Given the description of an element on the screen output the (x, y) to click on. 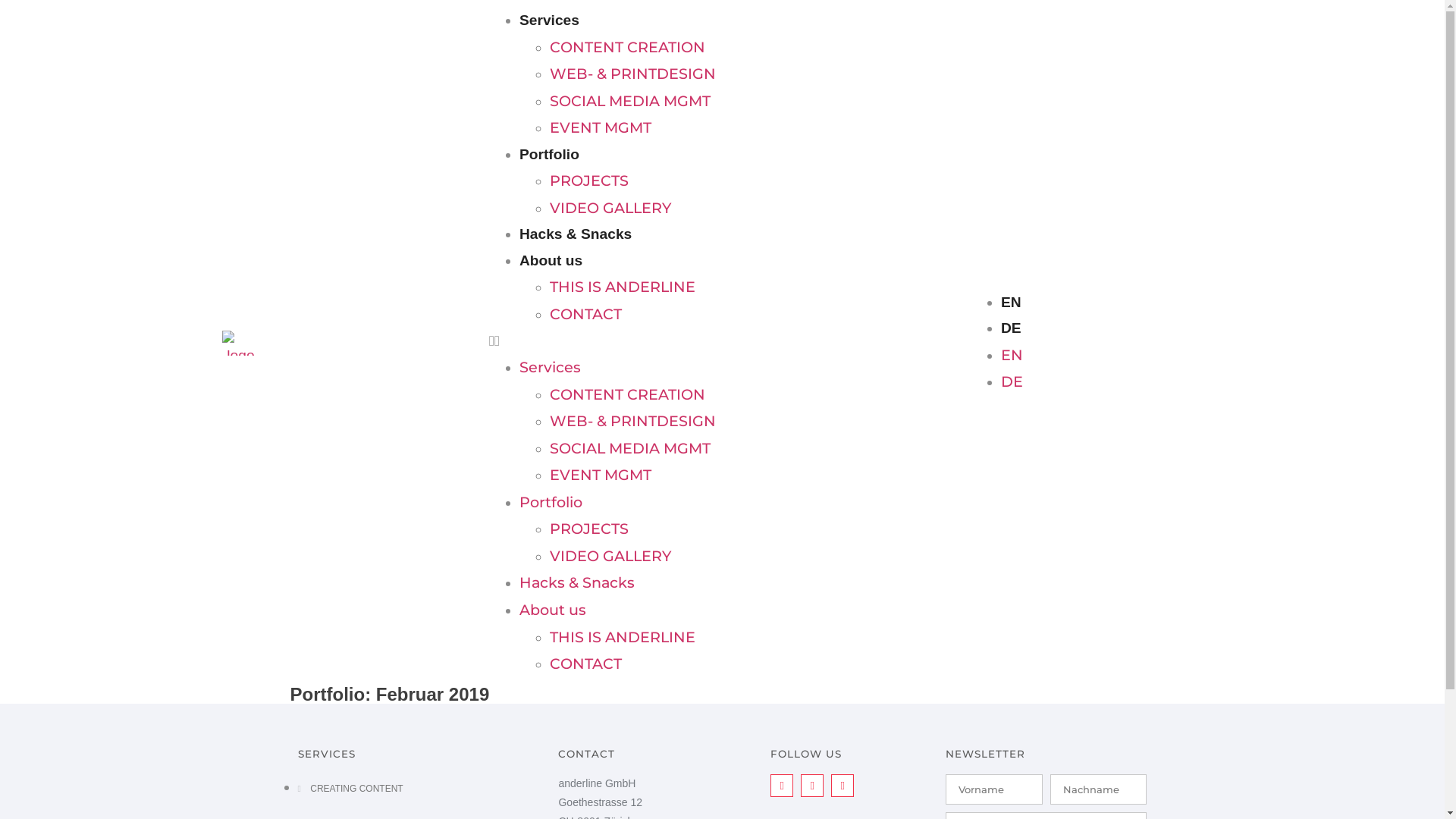
WEB- & PRINTDESIGN Element type: text (632, 420)
PROJECTS Element type: text (588, 180)
CREATING CONTENT Element type: text (349, 788)
Services Element type: text (549, 366)
EVENT MGMT Element type: text (600, 474)
WEB- & PRINTDESIGN Element type: text (632, 73)
EN Element type: text (1011, 354)
CONTENT CREATION Element type: text (627, 394)
VIDEO GALLERY Element type: text (610, 555)
Portfolio Element type: text (549, 154)
DE Element type: text (1011, 381)
CONTACT Element type: text (585, 313)
DE Element type: text (1011, 327)
About us Element type: text (552, 609)
Hacks & Snacks Element type: text (576, 582)
Hacks & Snacks Element type: text (575, 233)
CONTENT CREATION Element type: text (627, 46)
Portfolio Element type: text (550, 501)
EVENT MGMT Element type: text (600, 127)
THIS IS ANDERLINE Element type: text (622, 636)
SOCIAL MEDIA MGMT Element type: text (629, 100)
PROJECTS Element type: text (588, 528)
About us Element type: text (550, 260)
Services Element type: text (549, 20)
EN Element type: text (1011, 302)
CONTACT Element type: text (585, 663)
SOCIAL MEDIA MGMT Element type: text (629, 448)
VIDEO GALLERY Element type: text (610, 207)
THIS IS ANDERLINE Element type: text (622, 286)
